Given the description of an element on the screen output the (x, y) to click on. 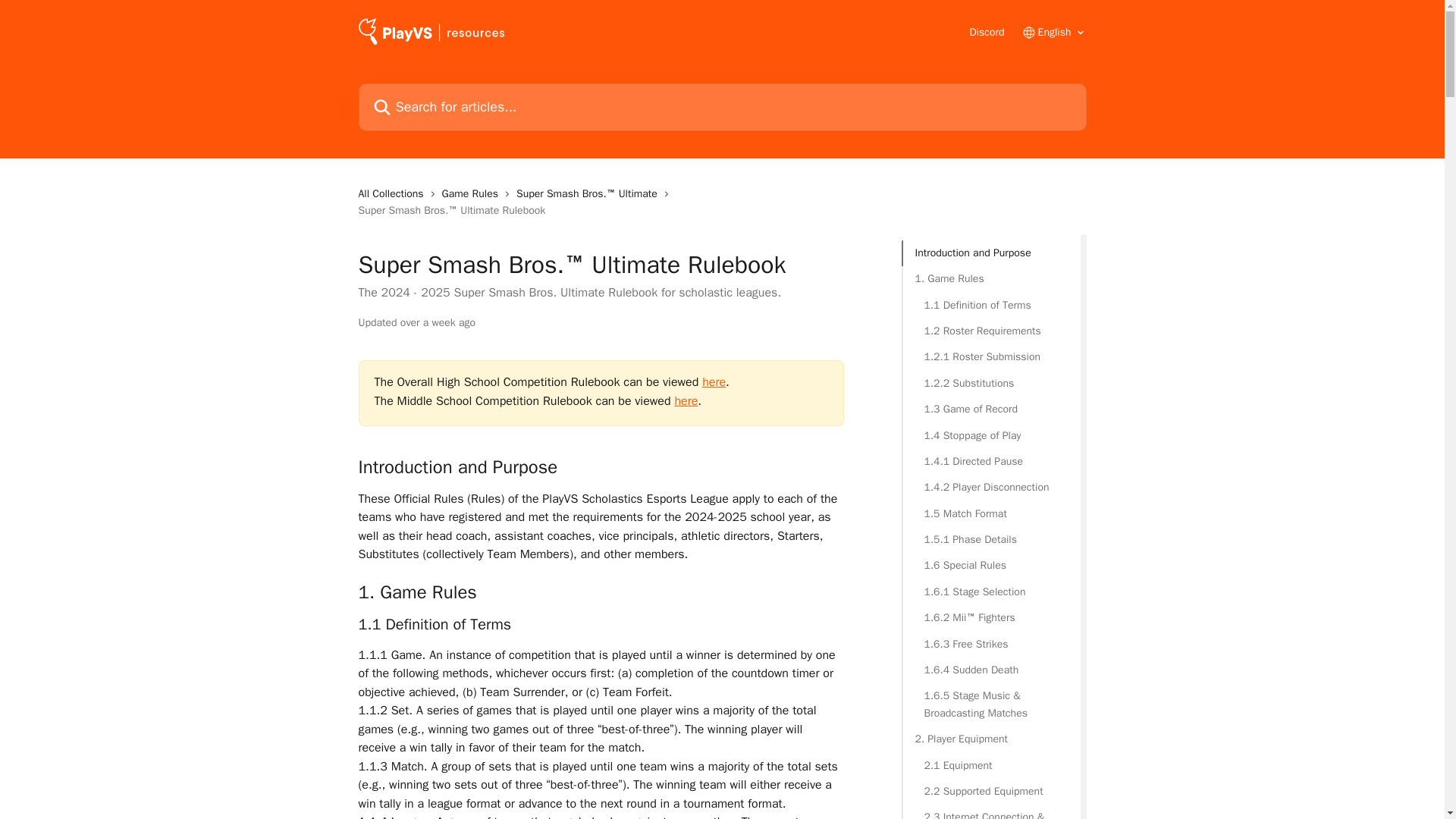
1.4 Stoppage of Play (990, 435)
2.2 Supported Equipment (990, 791)
1.1 Definition of Terms (990, 305)
1. Game Rules (990, 279)
1.6.4 Sudden Death (990, 669)
1.6 Special Rules (990, 565)
1.2 Roster Requirements (990, 330)
1.4.1 Directed Pause (990, 461)
1.3 Game of Record (990, 409)
All Collections (393, 193)
